Given the description of an element on the screen output the (x, y) to click on. 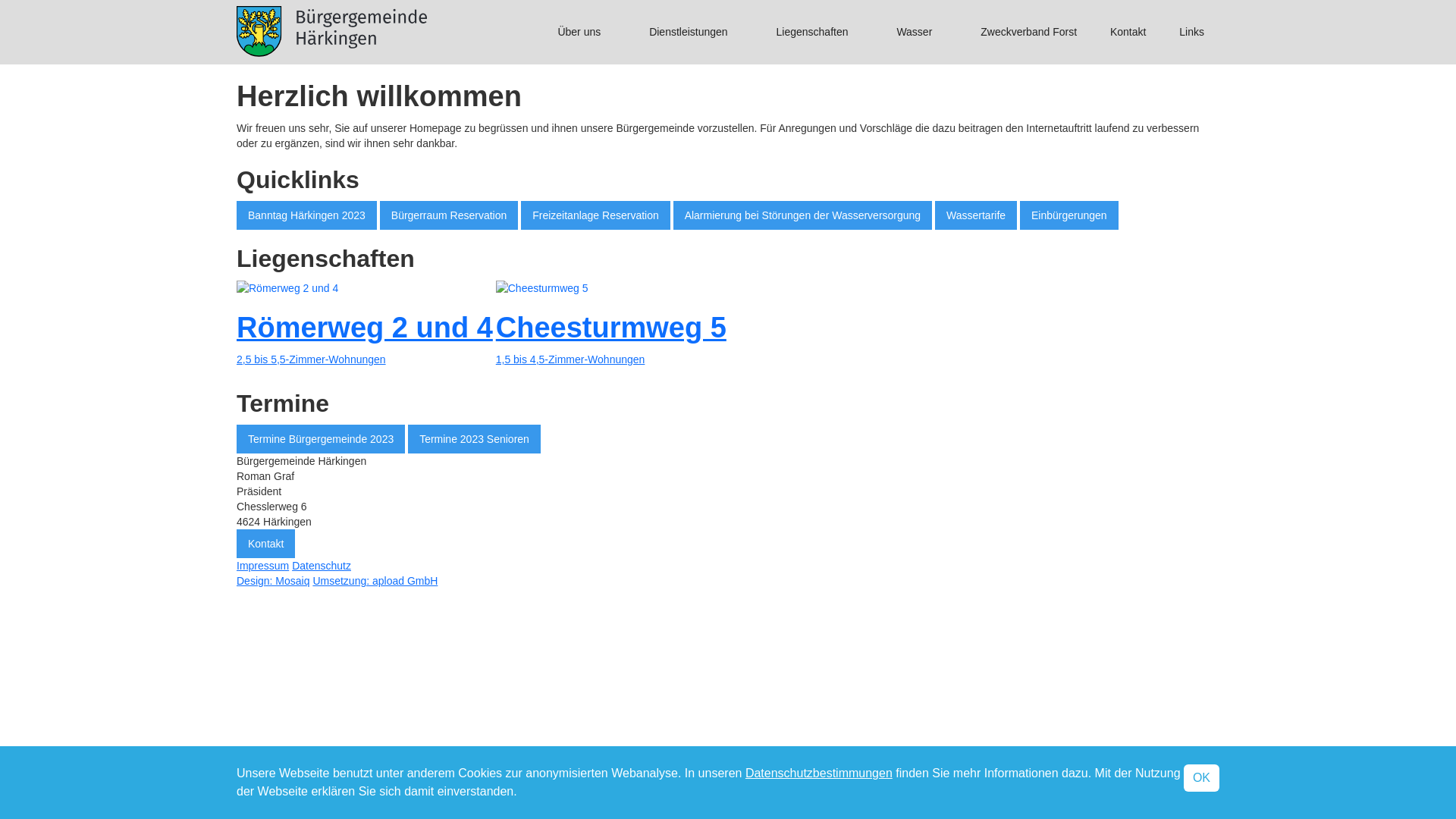
Impressum Element type: text (262, 565)
Kontakt Element type: text (265, 543)
Umsetzung: apload GmbH Element type: text (374, 580)
Datenschutzbestimmungen Element type: text (818, 772)
Kontakt Element type: text (1128, 31)
Links Element type: text (1191, 31)
Wassertarife Element type: text (975, 214)
Termine 2023 Senioren Element type: text (473, 438)
OK Element type: text (1201, 777)
Freizeitanlage Reservation Element type: text (595, 214)
Datenschutz Element type: text (321, 565)
Design: Mosaiq Element type: text (273, 580)
Zweckverband Forst Element type: text (1028, 31)
Cheesturmweg 5
1,5 bis 4,5-Zimmer-Wohnungen Element type: text (610, 326)
